Given the description of an element on the screen output the (x, y) to click on. 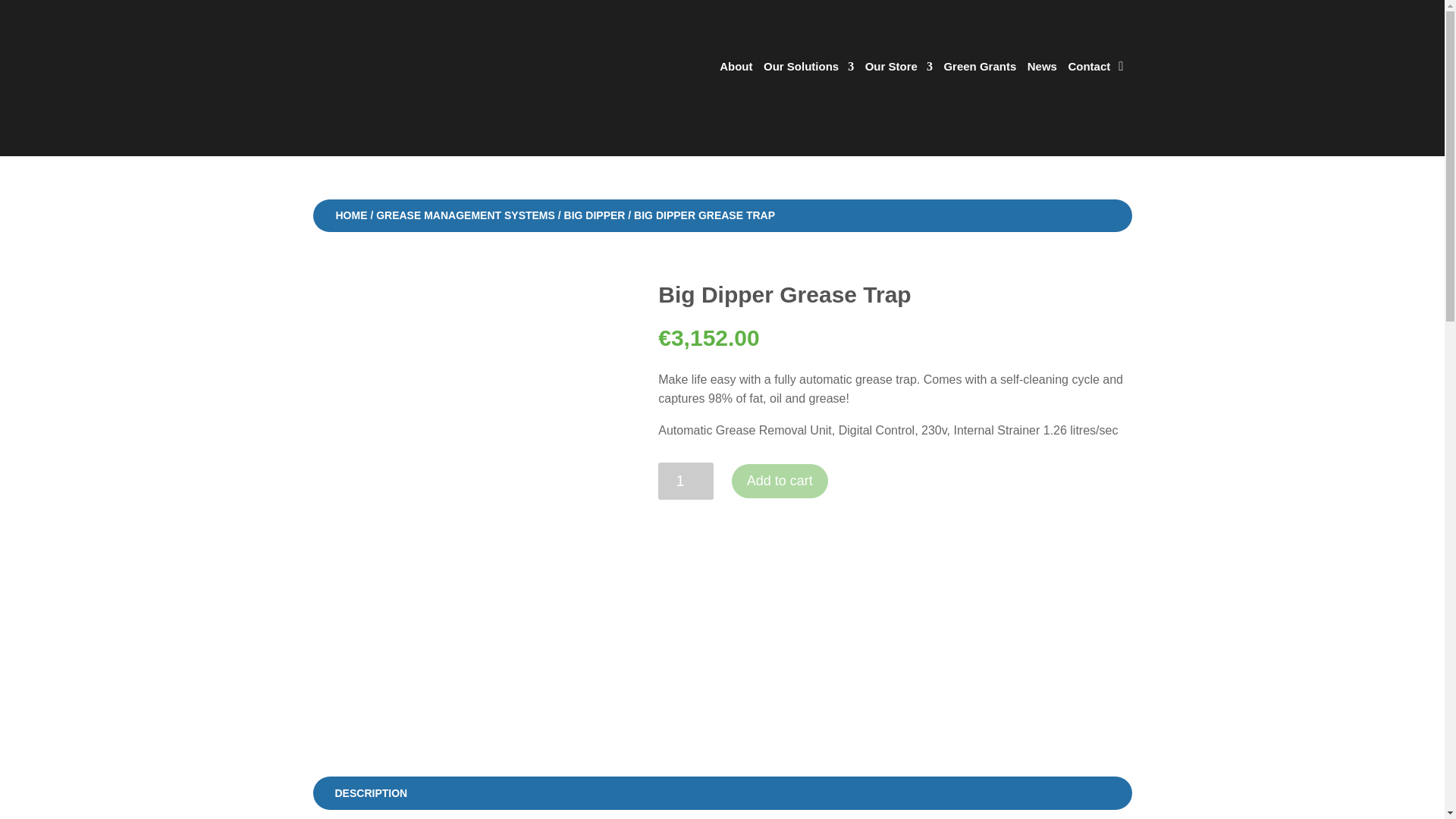
HOME (350, 215)
Qty (685, 480)
About (735, 66)
Contact (1088, 66)
Add to cart (780, 480)
Green Grants (979, 66)
Our Solutions (807, 66)
Our Store (898, 66)
News (1042, 66)
1 (685, 480)
BIG DIPPER (595, 215)
GREASE MANAGEMENT SYSTEMS (464, 215)
